Given the description of an element on the screen output the (x, y) to click on. 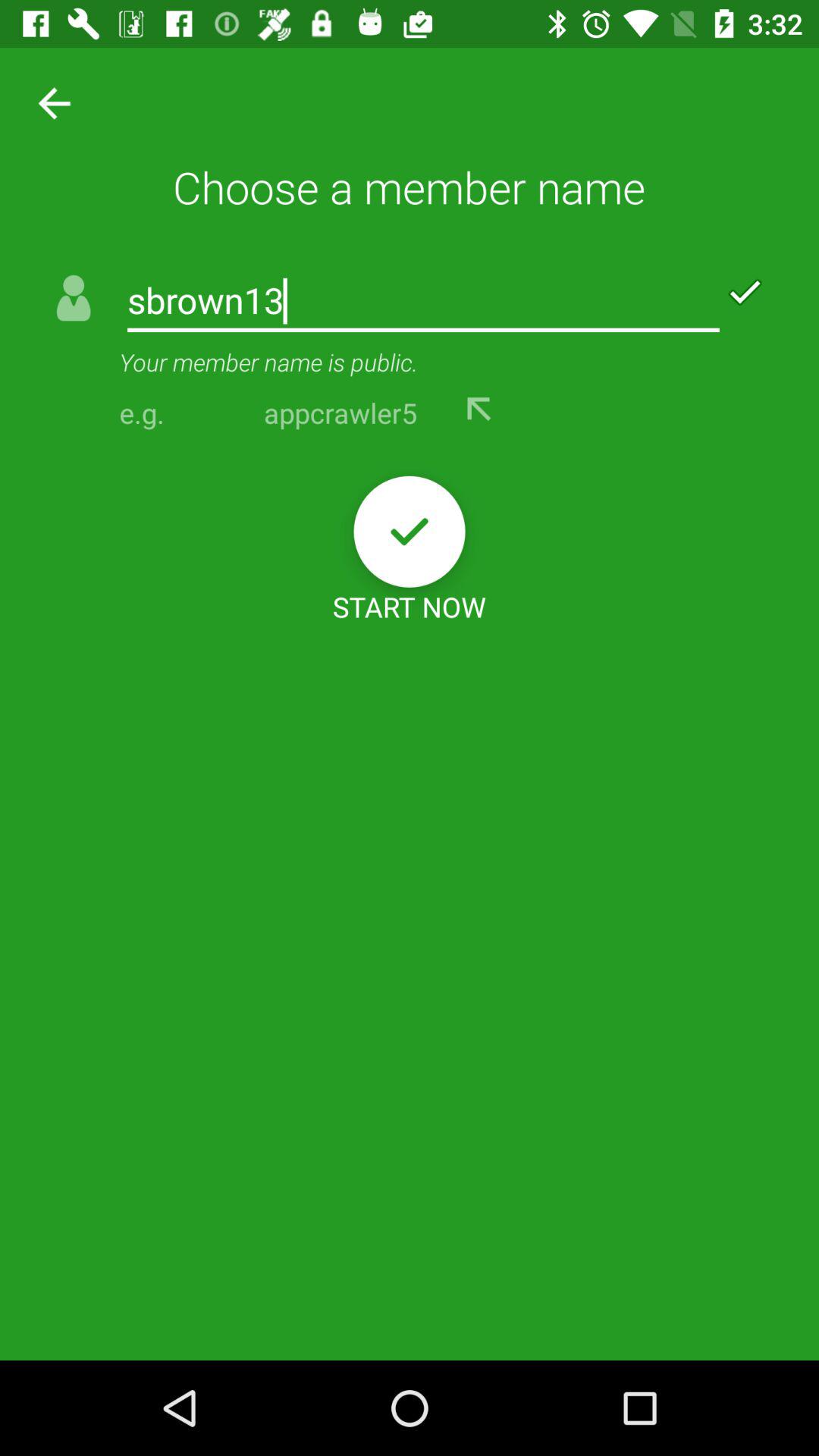
tap the sbrown13 item (423, 301)
